Given the description of an element on the screen output the (x, y) to click on. 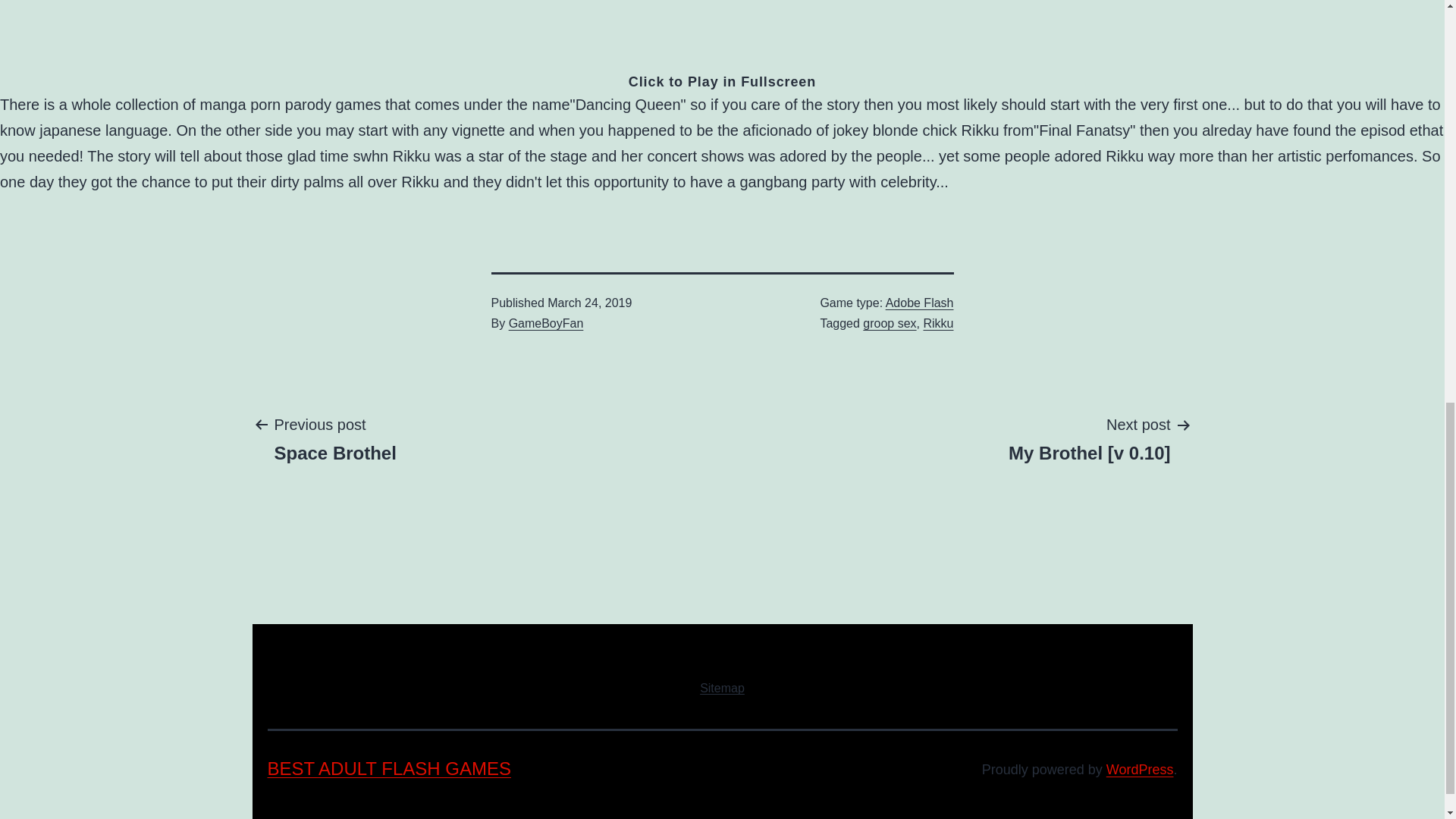
WordPress (1139, 769)
Rikku (334, 438)
Sitemap (938, 323)
groop sex (722, 687)
Adobe Flash (889, 323)
GameBoyFan (919, 302)
BEST ADULT FLASH GAMES (545, 323)
